Given the description of an element on the screen output the (x, y) to click on. 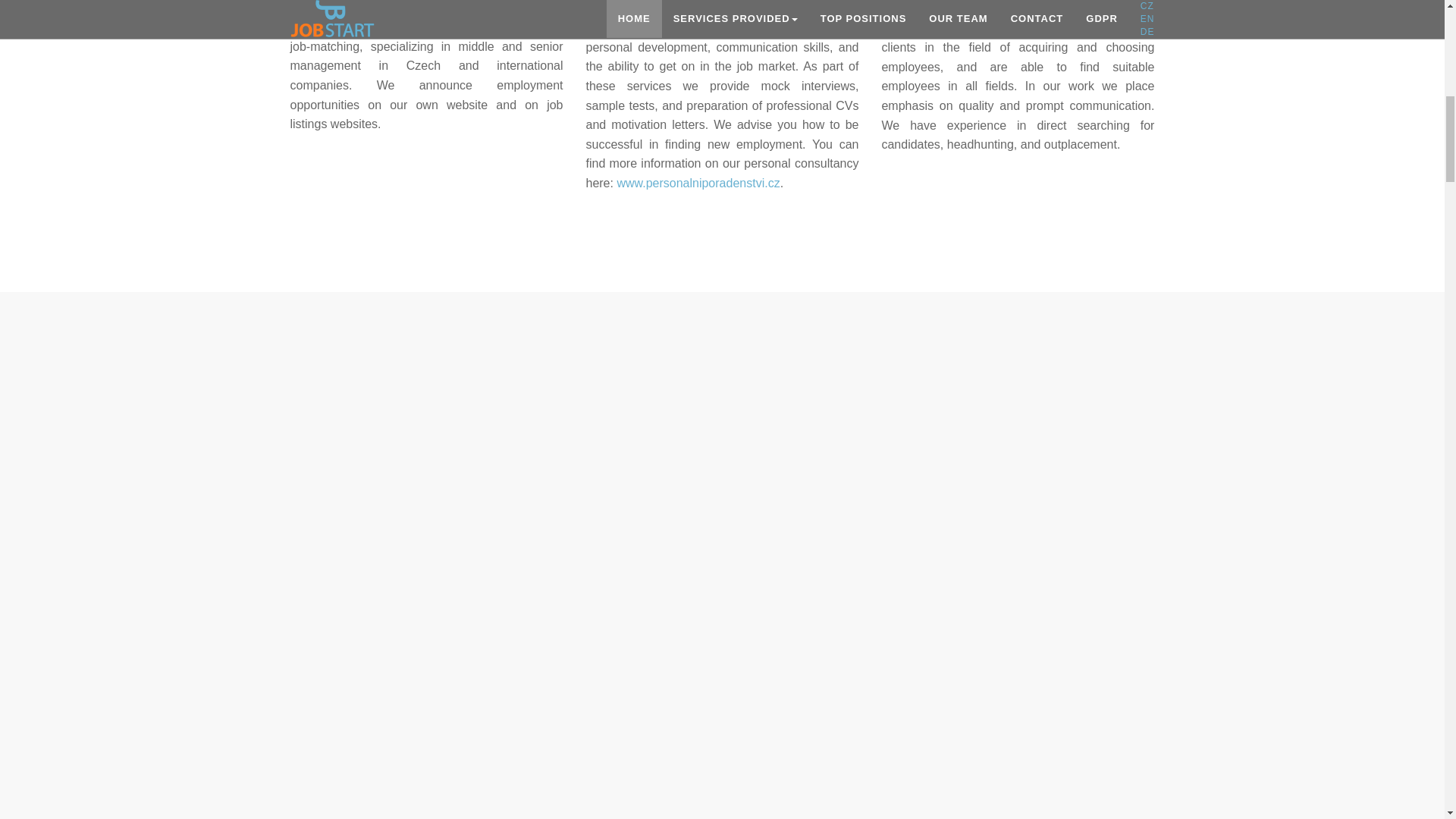
www.personalniporadenstvi.cz (696, 296)
